Given the description of an element on the screen output the (x, y) to click on. 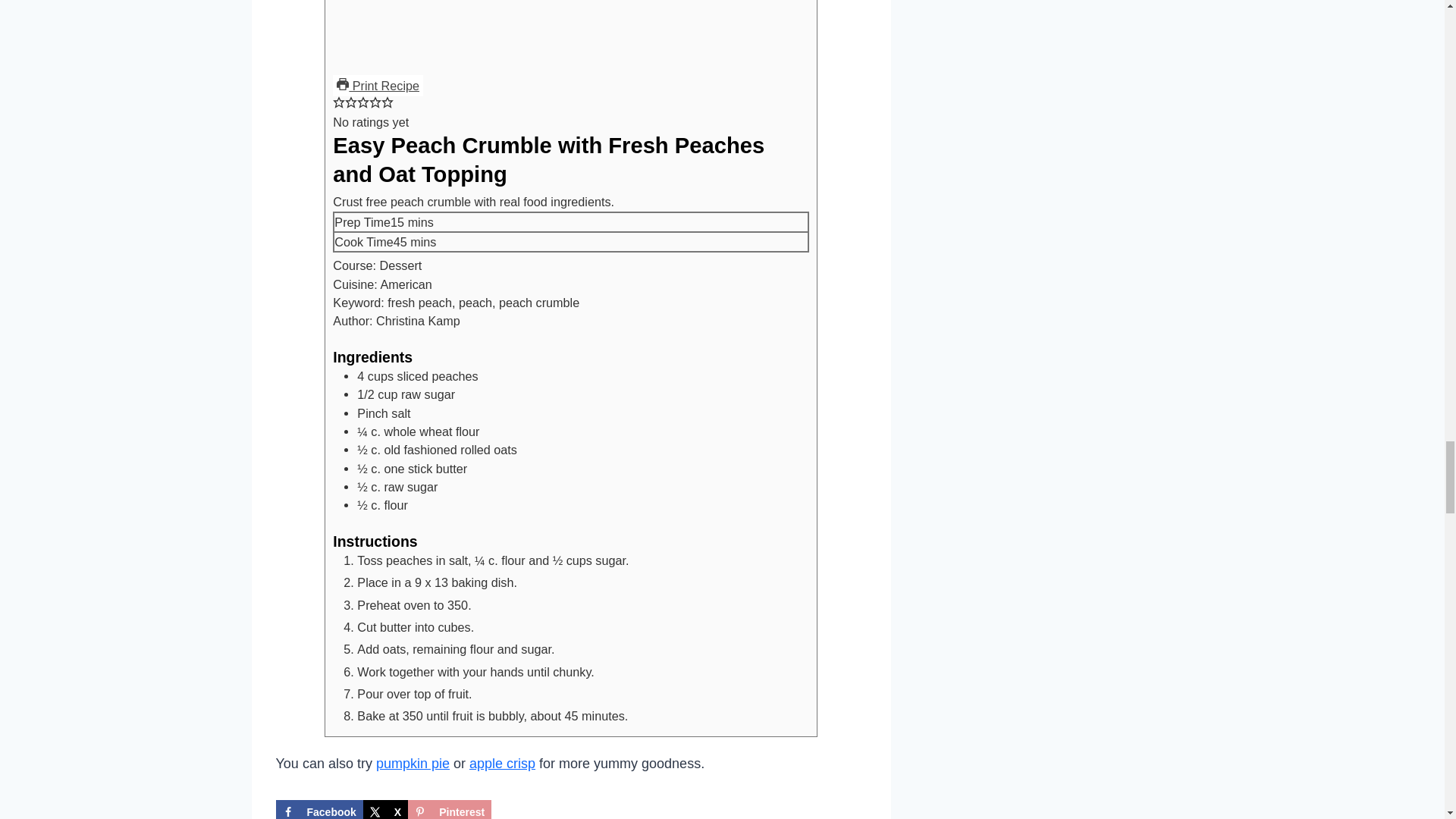
Pinterest (449, 809)
X (384, 809)
Facebook (319, 809)
Share on Facebook (319, 809)
Save to Pinterest (449, 809)
pumpkin pie (412, 763)
Print Recipe (378, 85)
apple crisp (501, 763)
Share on X (384, 809)
